Given the description of an element on the screen output the (x, y) to click on. 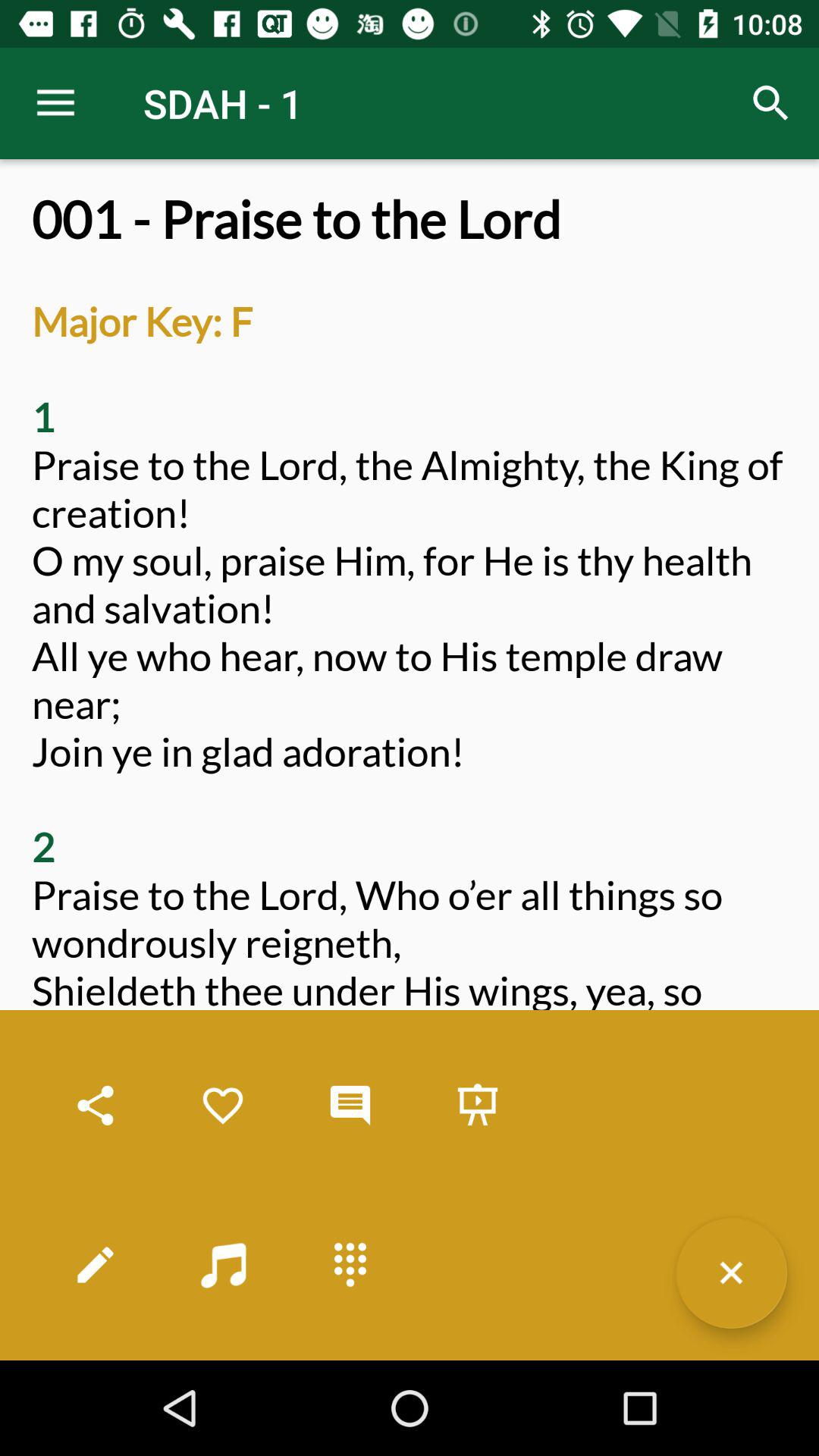
launch icon above 001 praise to item (771, 103)
